Given the description of an element on the screen output the (x, y) to click on. 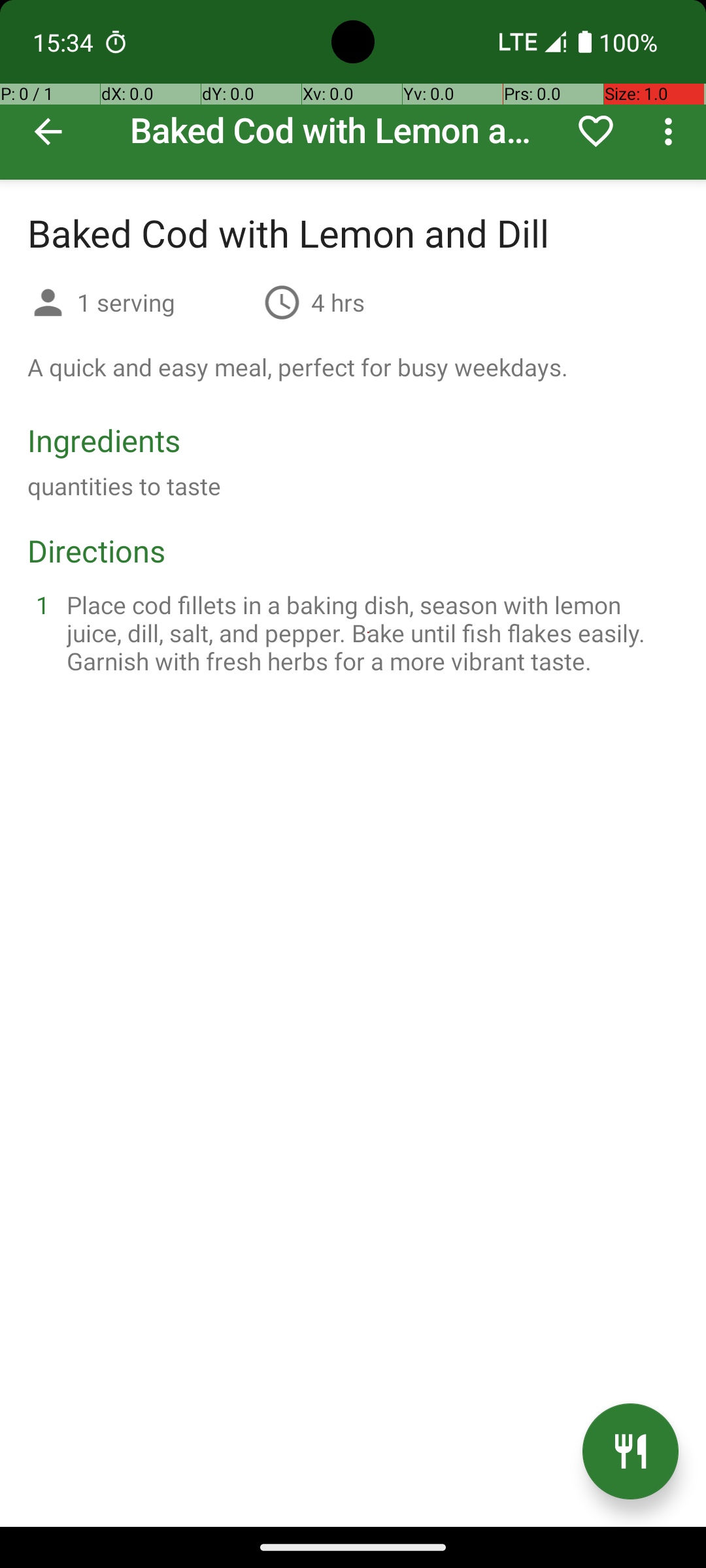
Place cod fillets in a baking dish, season with lemon juice, dill, salt, and pepper. Bake until fish flakes easily. Garnish with fresh herbs for a more vibrant taste. Element type: android.widget.TextView (368, 632)
